Given the description of an element on the screen output the (x, y) to click on. 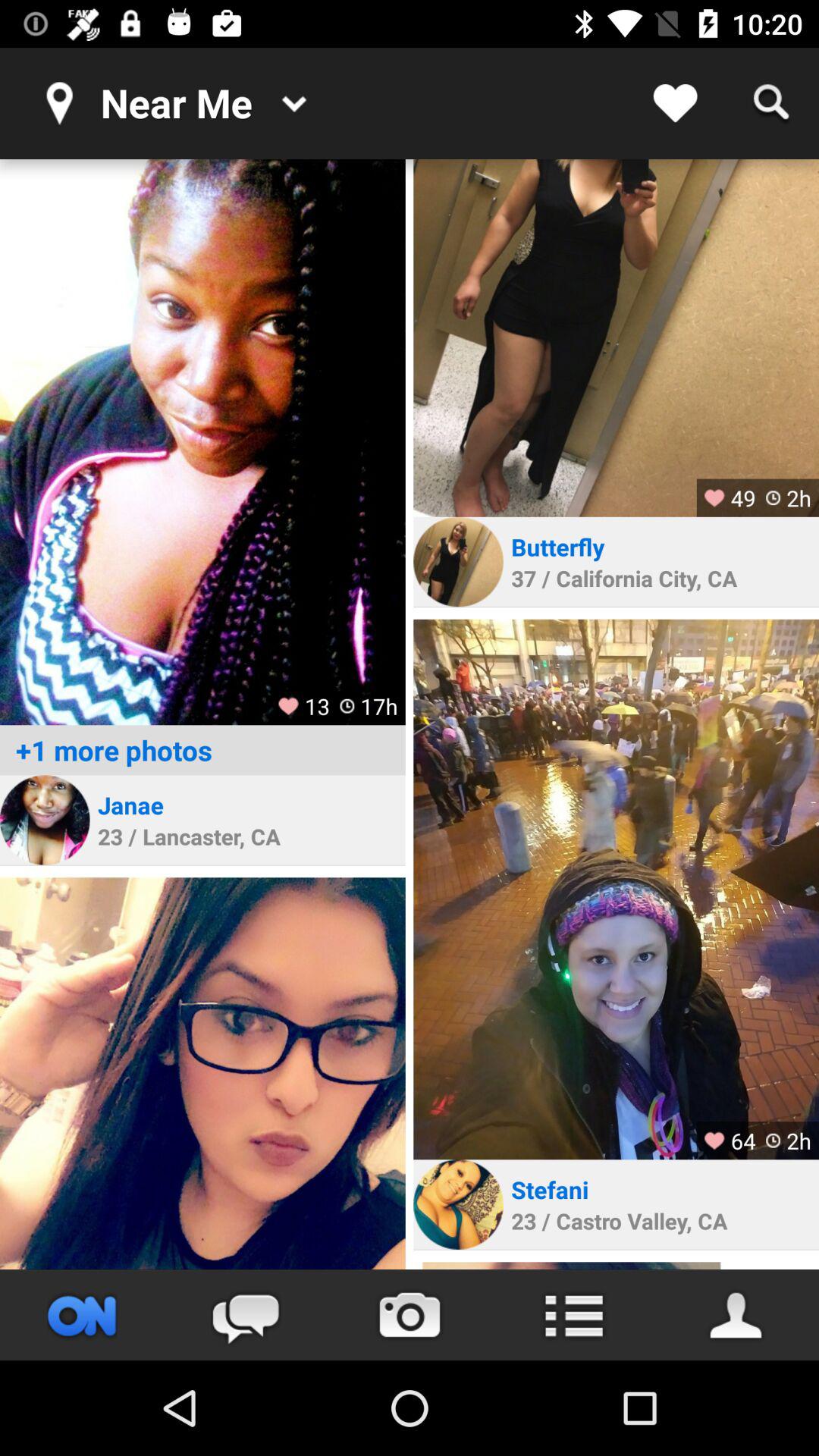
social network self (202, 1073)
